Given the description of an element on the screen output the (x, y) to click on. 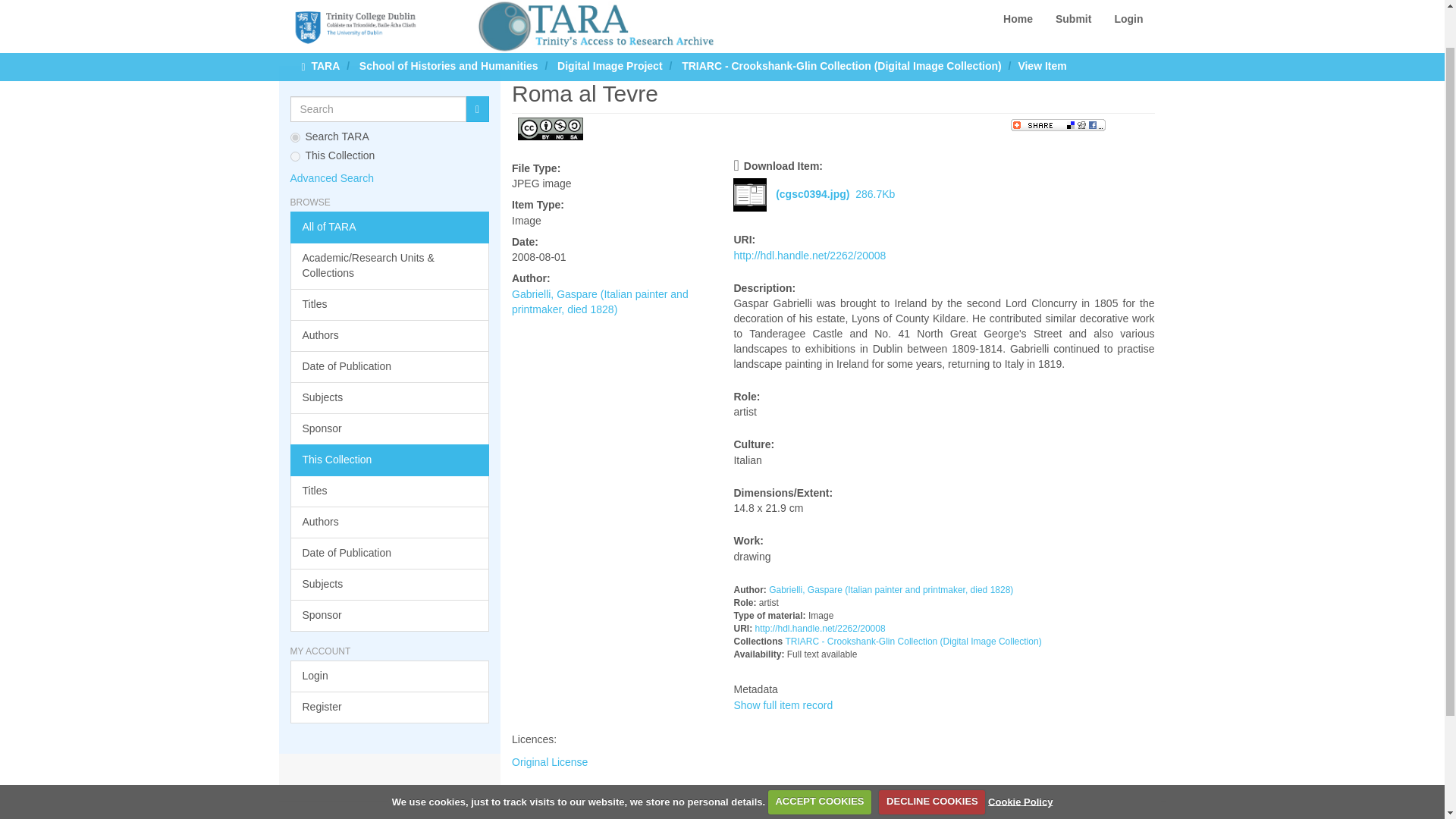
Date of Publication (389, 367)
Login (389, 676)
School of Histories and Humanities (448, 20)
TARA (325, 20)
Authors (389, 522)
Subjects (389, 398)
This Collection (389, 459)
All of TARA (389, 227)
Date of Publication (389, 553)
Go (477, 109)
Advanced Search (331, 177)
Sponsor (389, 429)
Sponsor (389, 615)
Authors (389, 336)
